Given the description of an element on the screen output the (x, y) to click on. 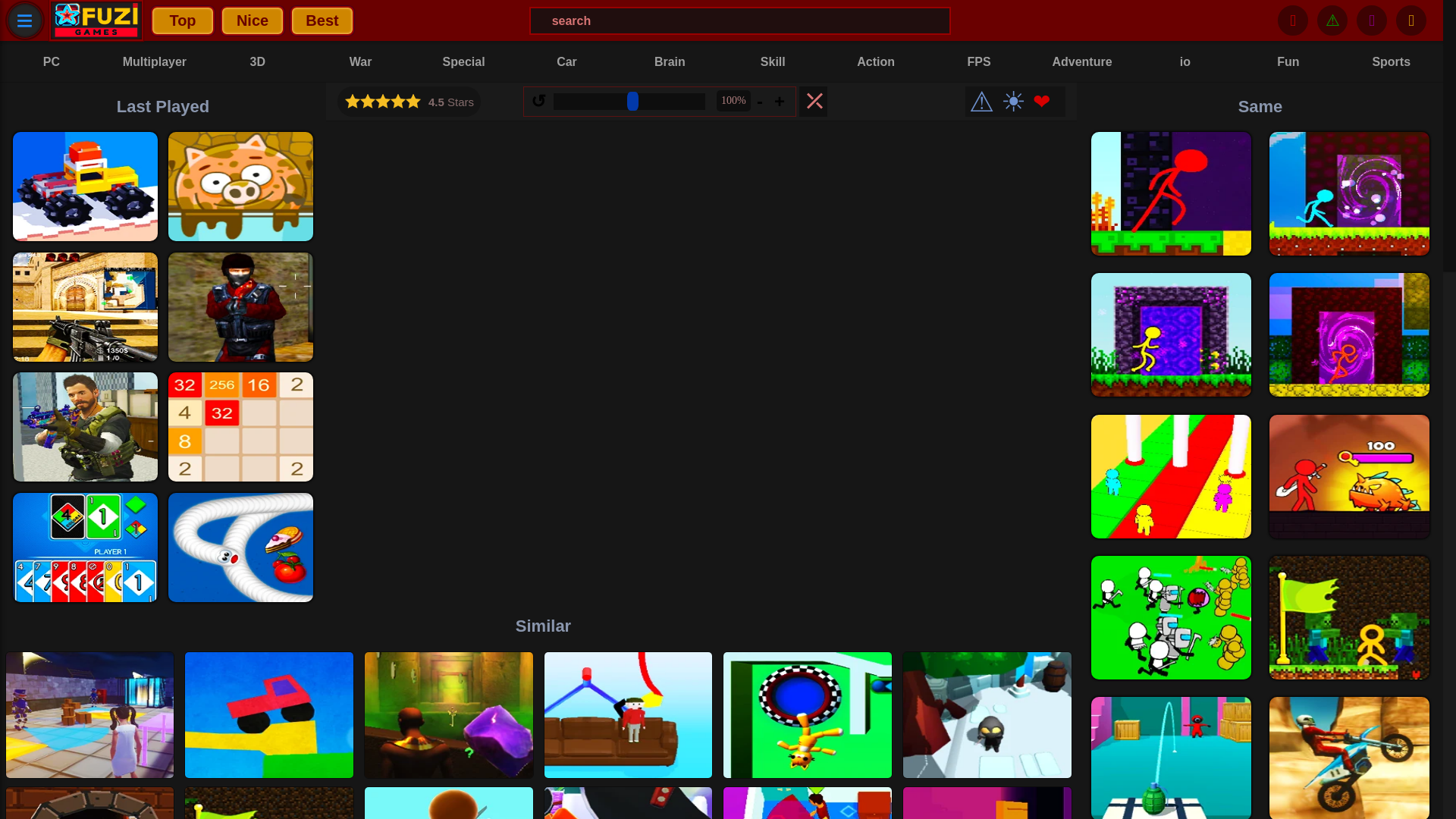
reset size (540, 101)
Report bugs; We will fix it as soon as possible. (981, 101)
Best (322, 20)
Turn off the lights (1011, 101)
search (740, 20)
Fullscreen (813, 101)
Nice (252, 20)
Top (182, 20)
increase size (781, 101)
